Given the description of an element on the screen output the (x, y) to click on. 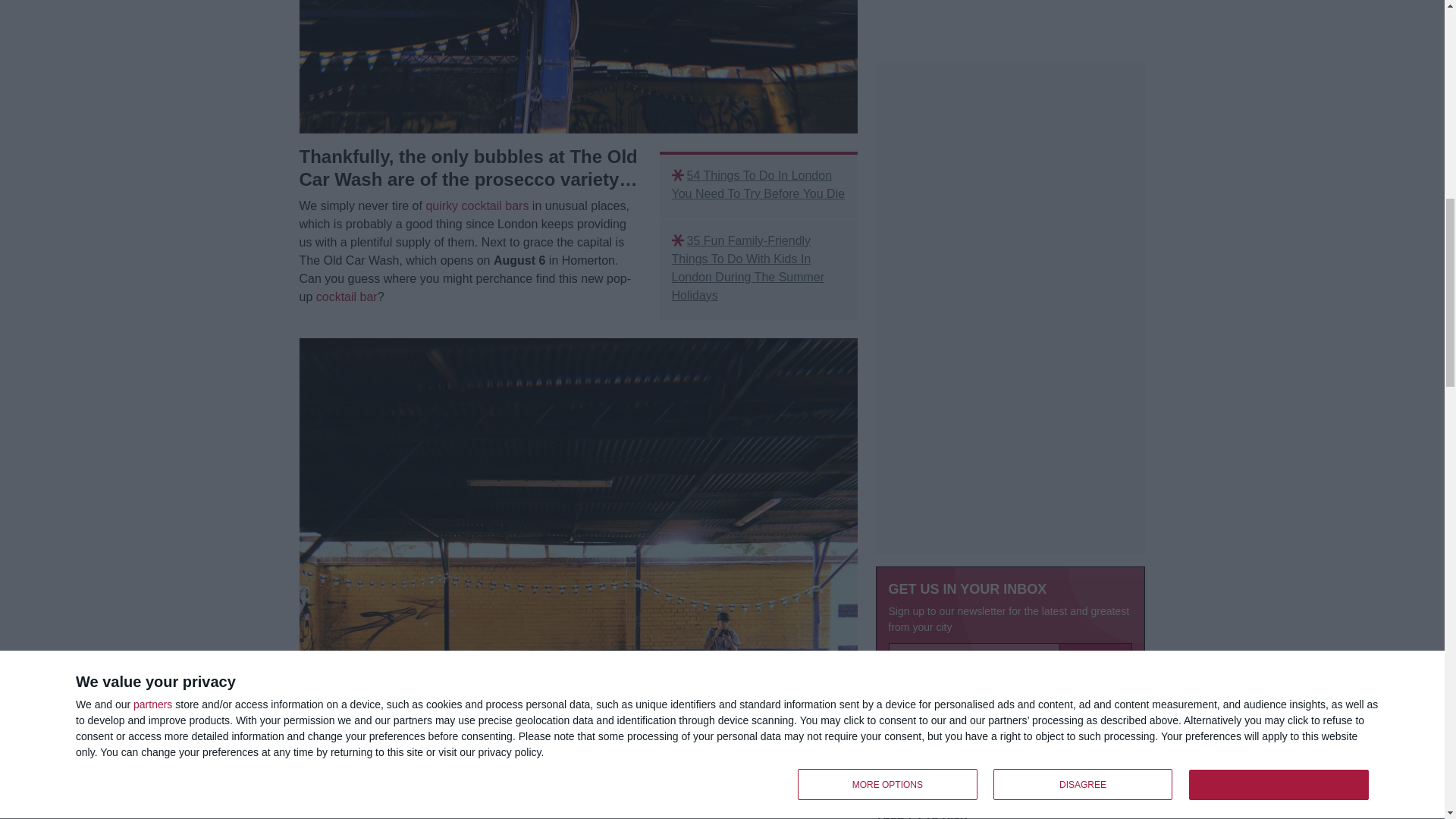
quirky cocktail bars (476, 205)
Subscribe (1095, 308)
1 (896, 339)
Subscribe (1095, 308)
16 JULY, 2024 (904, 497)
54 Things To Do In London You Need To Try Before You Die (758, 185)
cocktail bar (346, 296)
